Given the description of an element on the screen output the (x, y) to click on. 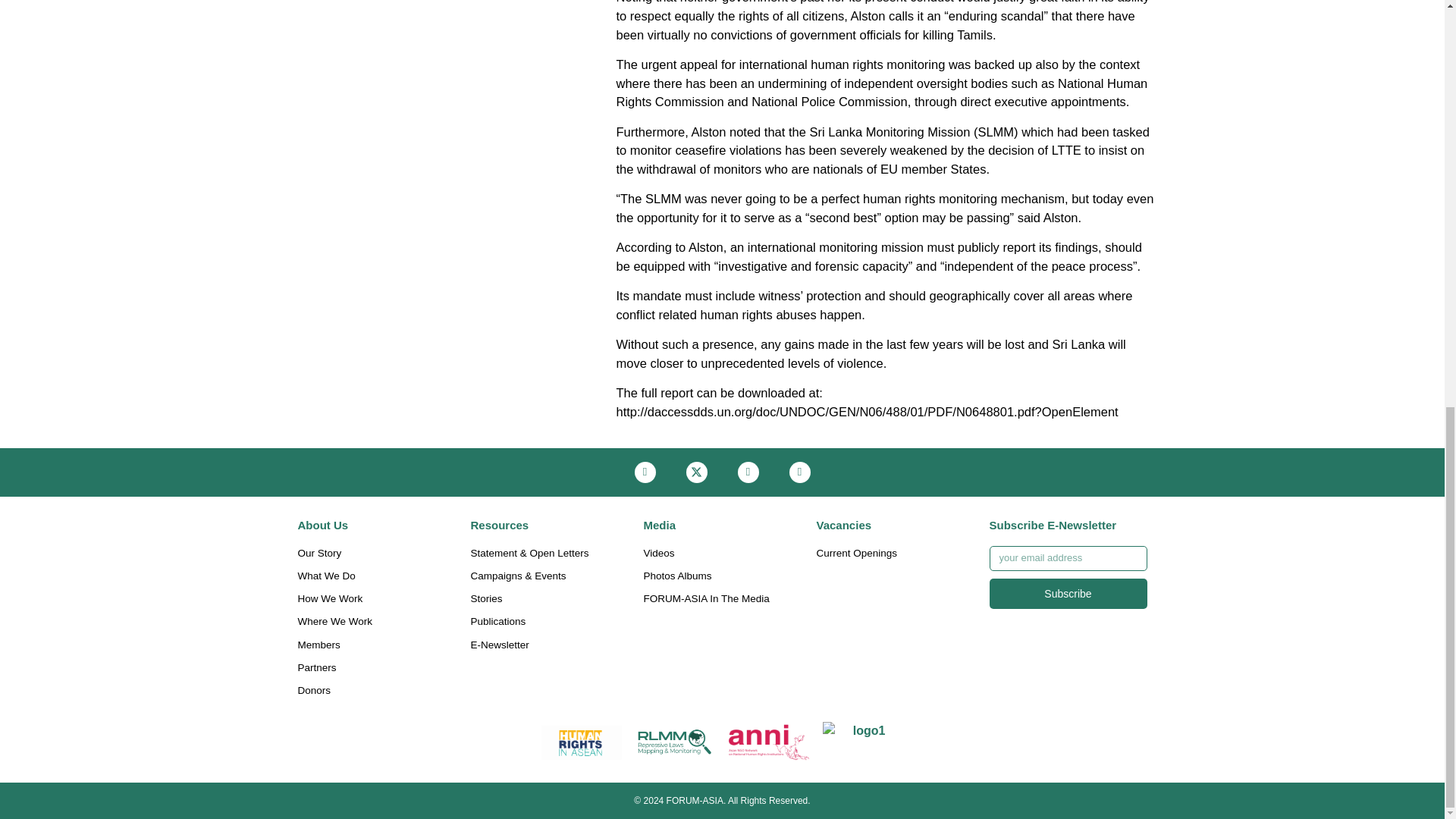
Default Title (769, 741)
Logo (675, 741)
Default Title (863, 741)
Default Title (582, 741)
